Given the description of an element on the screen output the (x, y) to click on. 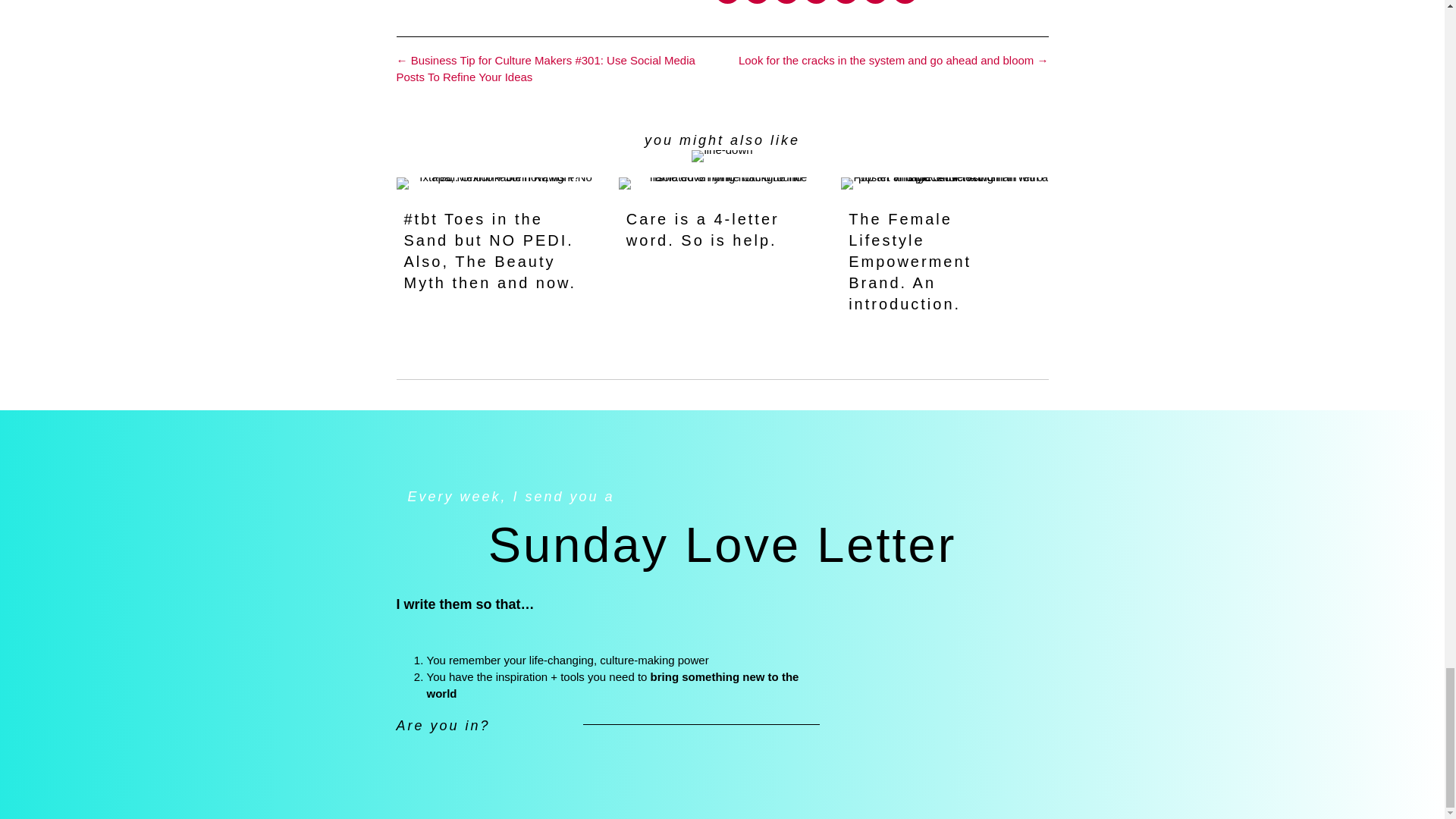
Pinterest (816, 2)
Twitter (757, 2)
Facebook (727, 2)
Linkedin (786, 2)
